Given the description of an element on the screen output the (x, y) to click on. 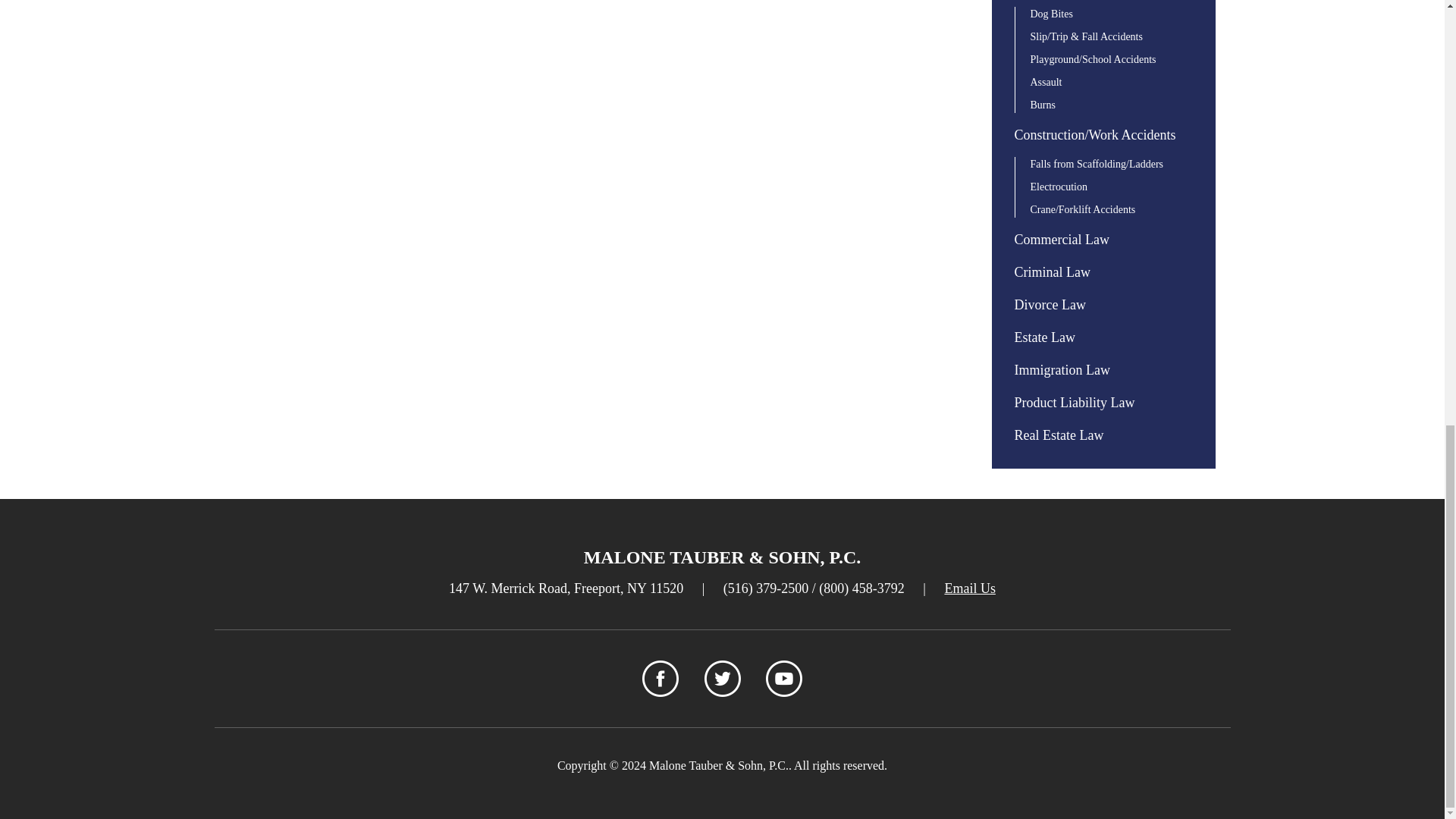
Burns (1041, 104)
Electrocution (1057, 186)
Dog Bites (1050, 13)
Assault (1045, 81)
